Given the description of an element on the screen output the (x, y) to click on. 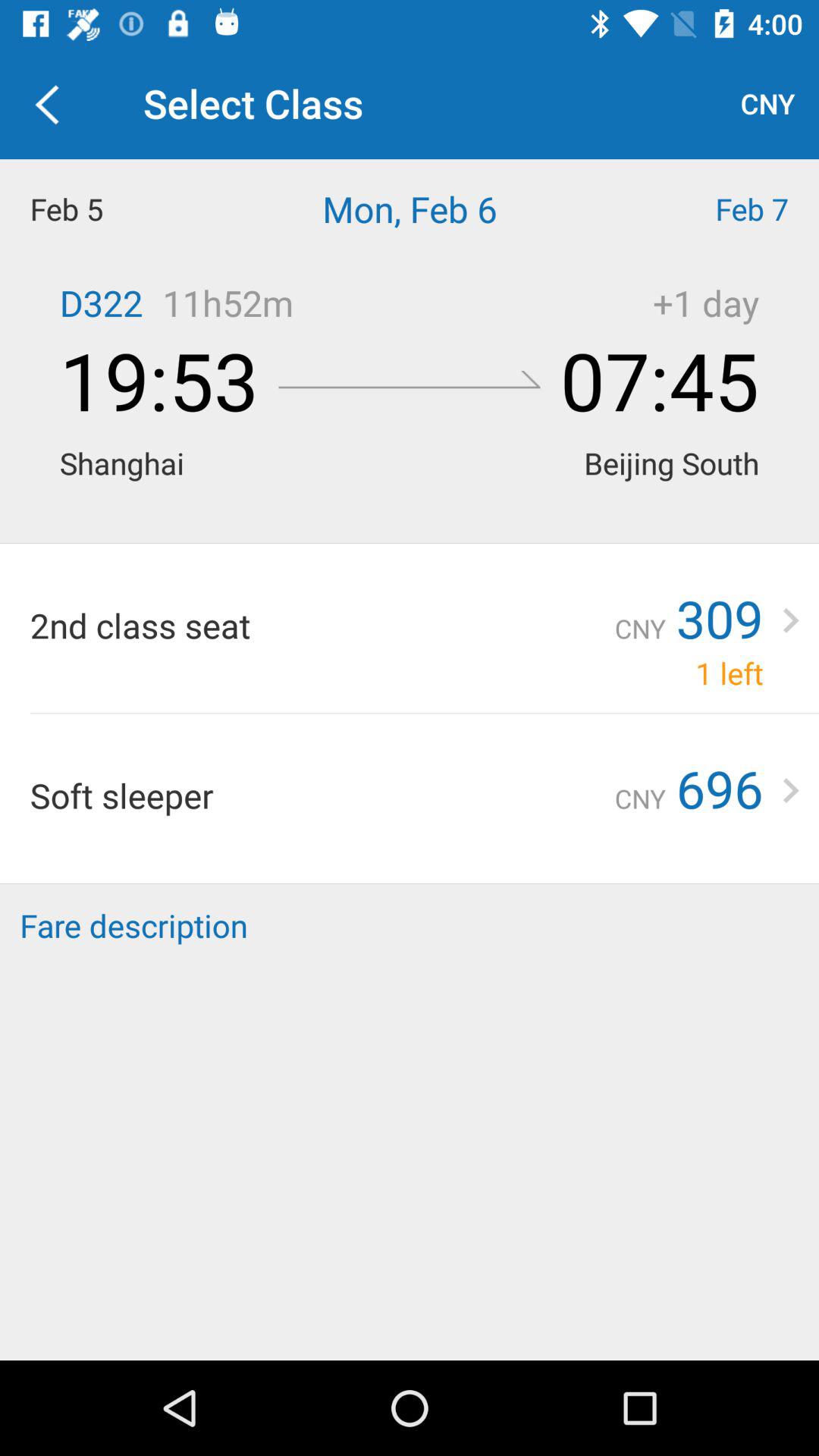
choose soft sleeper item (322, 795)
